Given the description of an element on the screen output the (x, y) to click on. 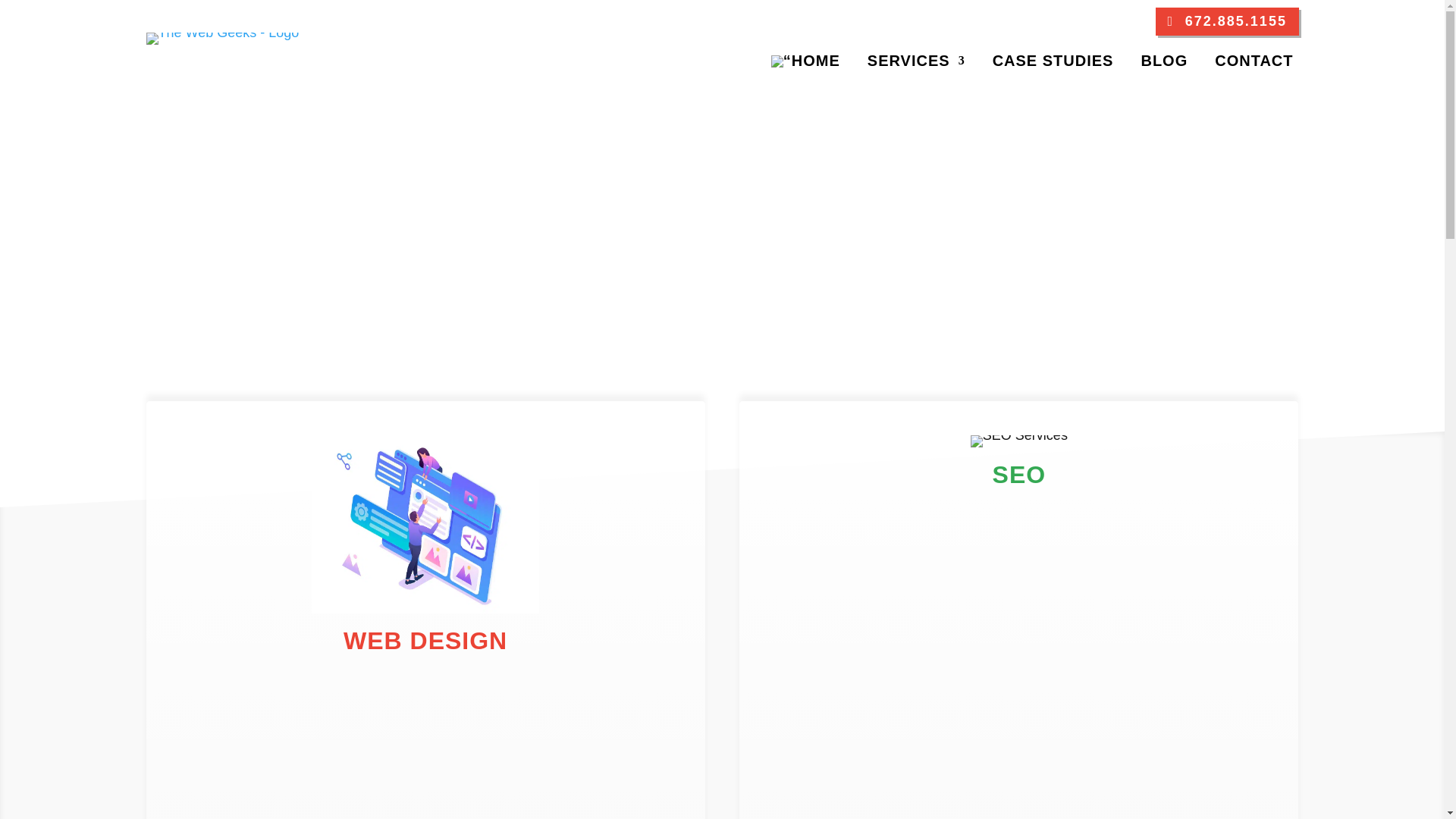
BLOG (1164, 64)
672.885.1155 (1227, 21)
Website Services (424, 608)
CASE STUDIES (1052, 64)
SEO Services (1019, 435)
The Web Geeks - Logo (221, 32)
CONTACT (1253, 64)
SERVICES (916, 64)
